Given the description of an element on the screen output the (x, y) to click on. 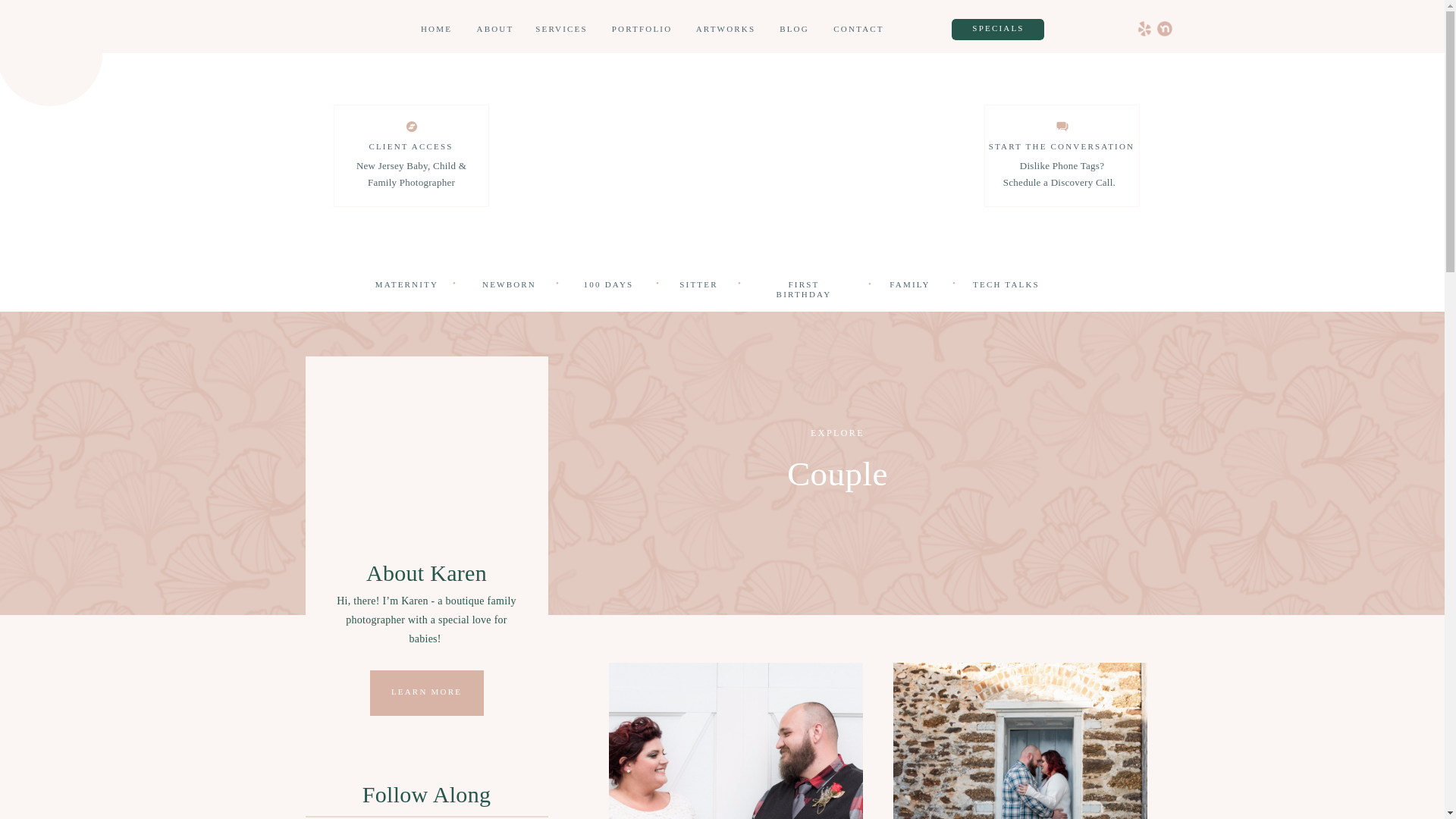
PORTFOLIO (642, 30)
ABOUT (495, 30)
SPECIALS (998, 29)
HOME (435, 30)
CONTACT (858, 30)
SERVICES (561, 30)
Alice Wonderland Themed Wedding (734, 740)
ARTWORKS (724, 30)
BLOG (793, 30)
